Given the description of an element on the screen output the (x, y) to click on. 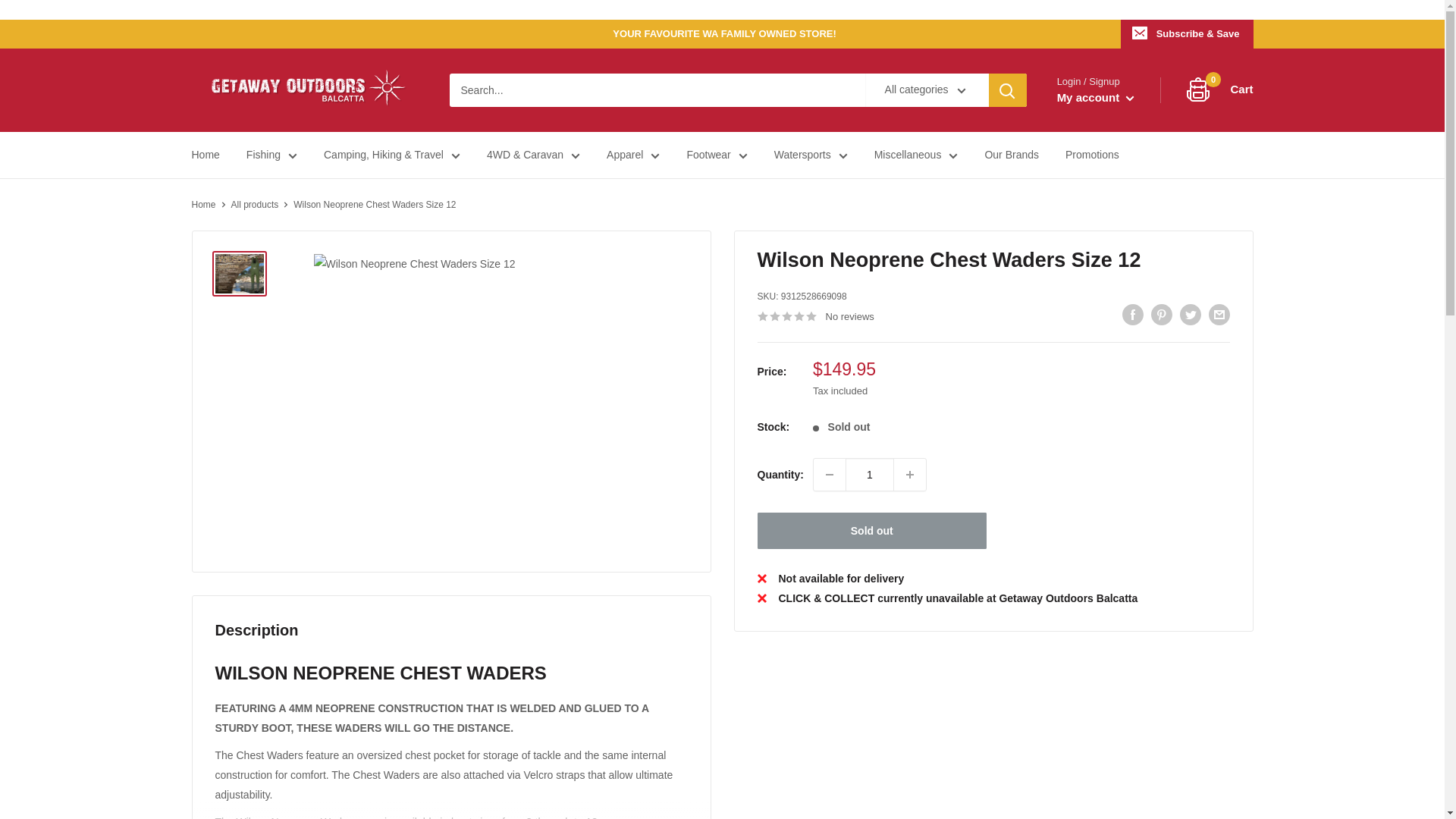
Increase quantity by 1 (909, 474)
1 (869, 474)
Decrease quantity by 1 (829, 474)
